Given the description of an element on the screen output the (x, y) to click on. 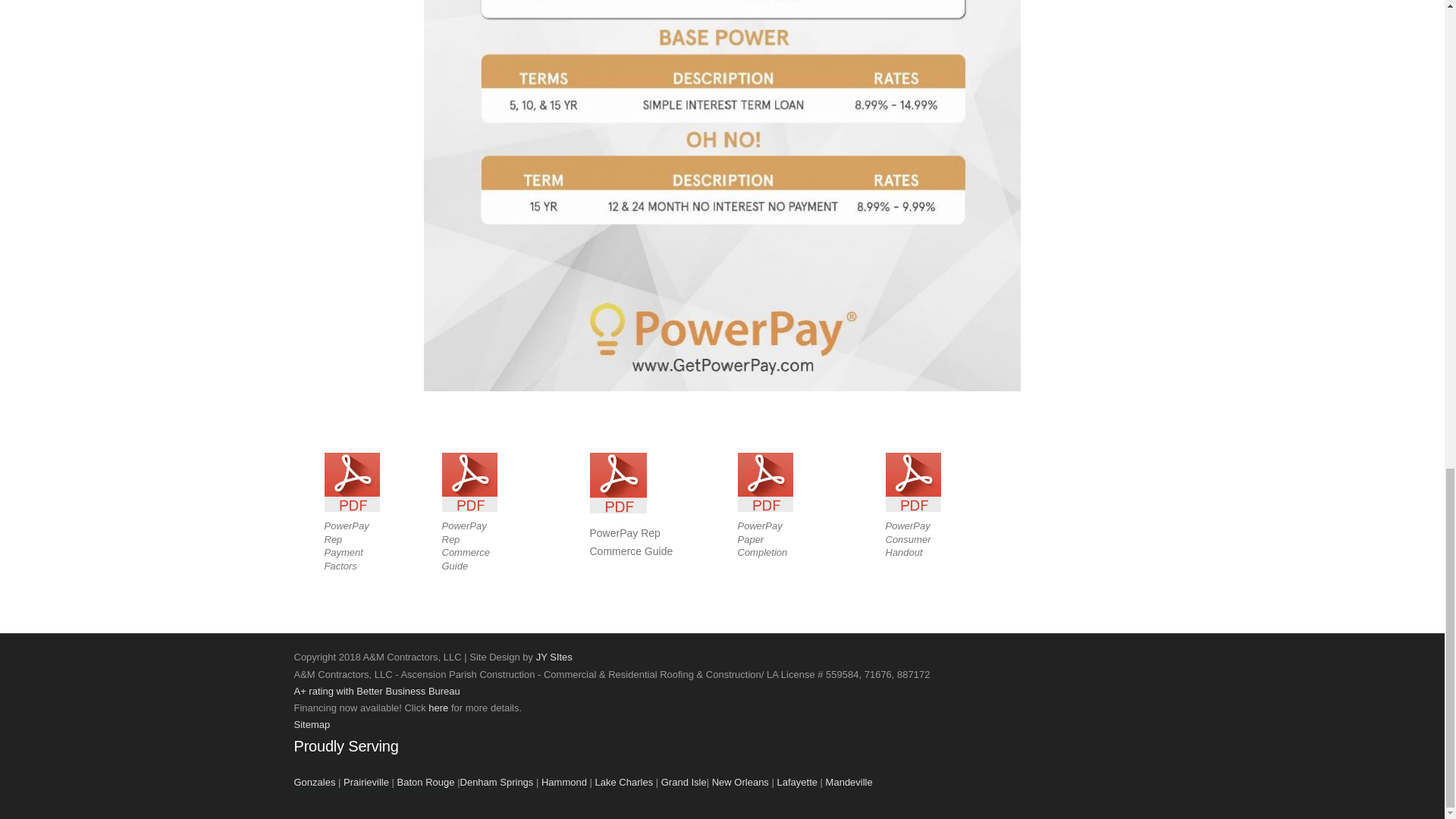
JY SItes (553, 656)
Hammond (563, 781)
New Orleans (739, 781)
Prairieville (365, 781)
Mandeville (848, 781)
Lake Charles (624, 781)
Baton Rouge (425, 781)
Sitemap (312, 724)
Gonzales (315, 781)
Denham Springs (497, 781)
here (438, 707)
Grand Isle (683, 781)
Lafayette (796, 781)
